Given the description of an element on the screen output the (x, y) to click on. 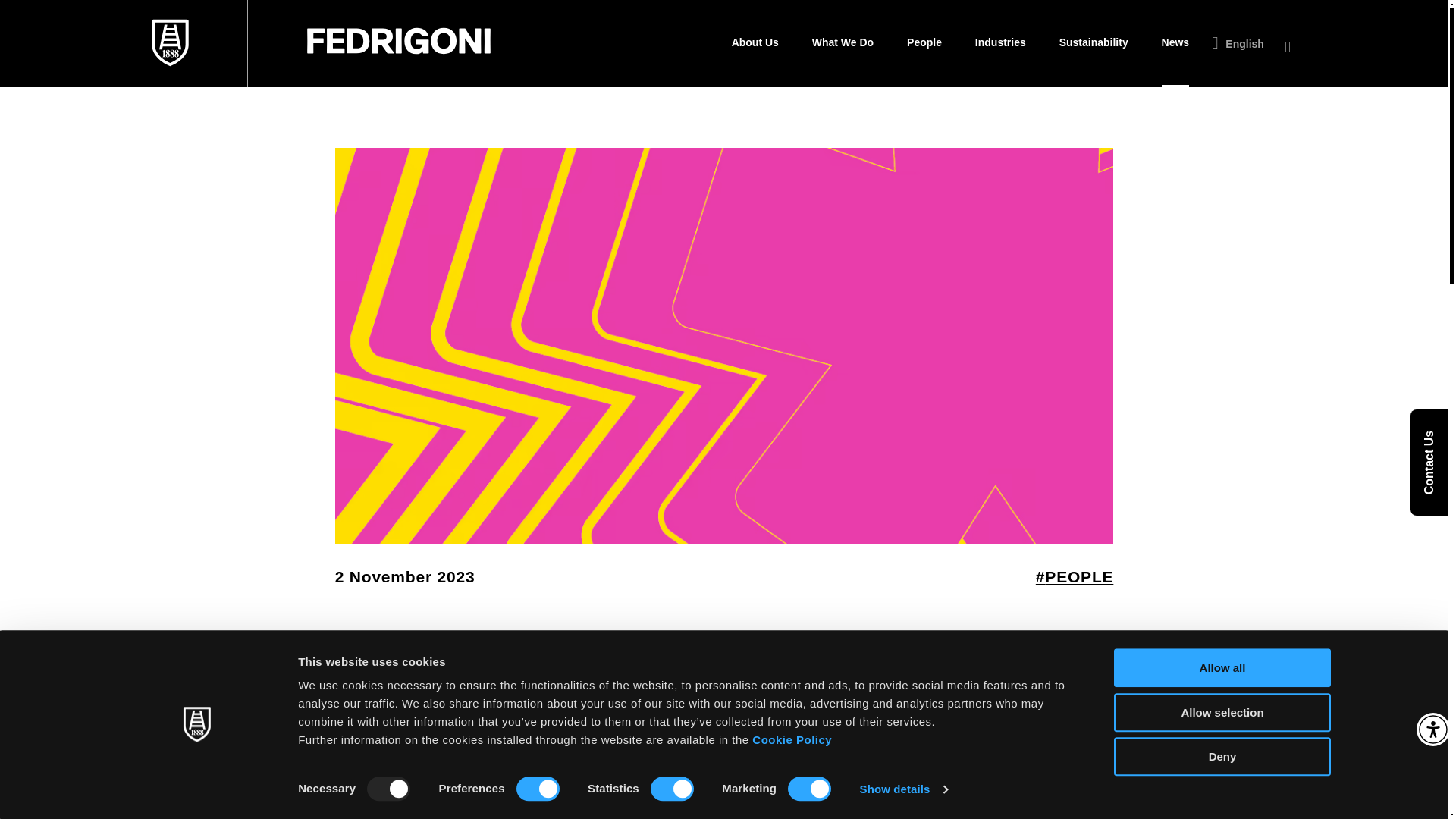
Accessibility Menu (1433, 729)
Cookie Policy (791, 739)
Deny (1221, 756)
Show details (903, 789)
